Given the description of an element on the screen output the (x, y) to click on. 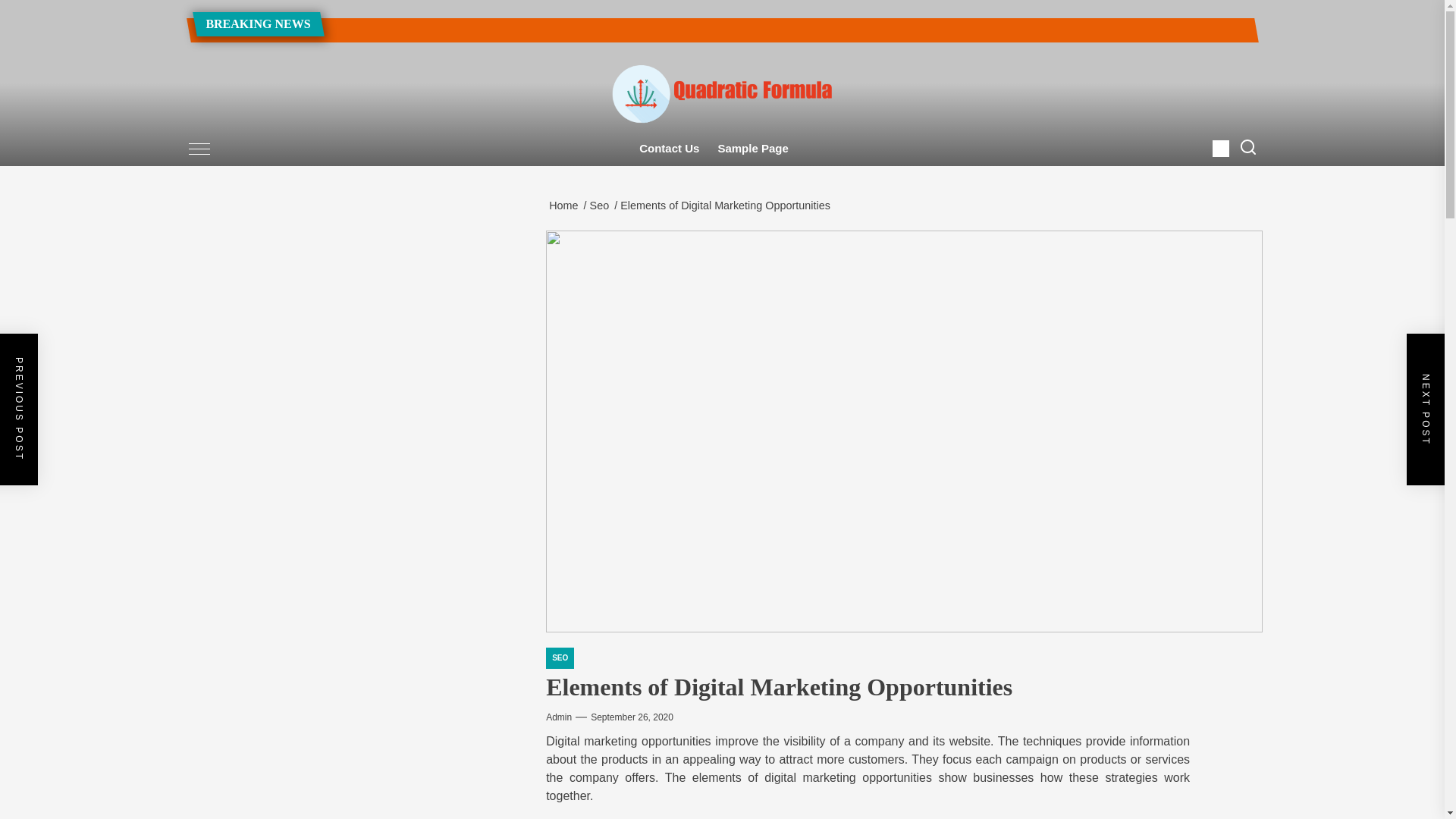
Sample Page (751, 148)
SEO (559, 658)
September 26, 2020 (631, 717)
Elements of Digital Marketing Opportunities (727, 205)
Home (566, 205)
Admin (559, 717)
Seo (601, 205)
QUADRATIC FORMULA (681, 163)
Contact Us (668, 148)
